Given the description of an element on the screen output the (x, y) to click on. 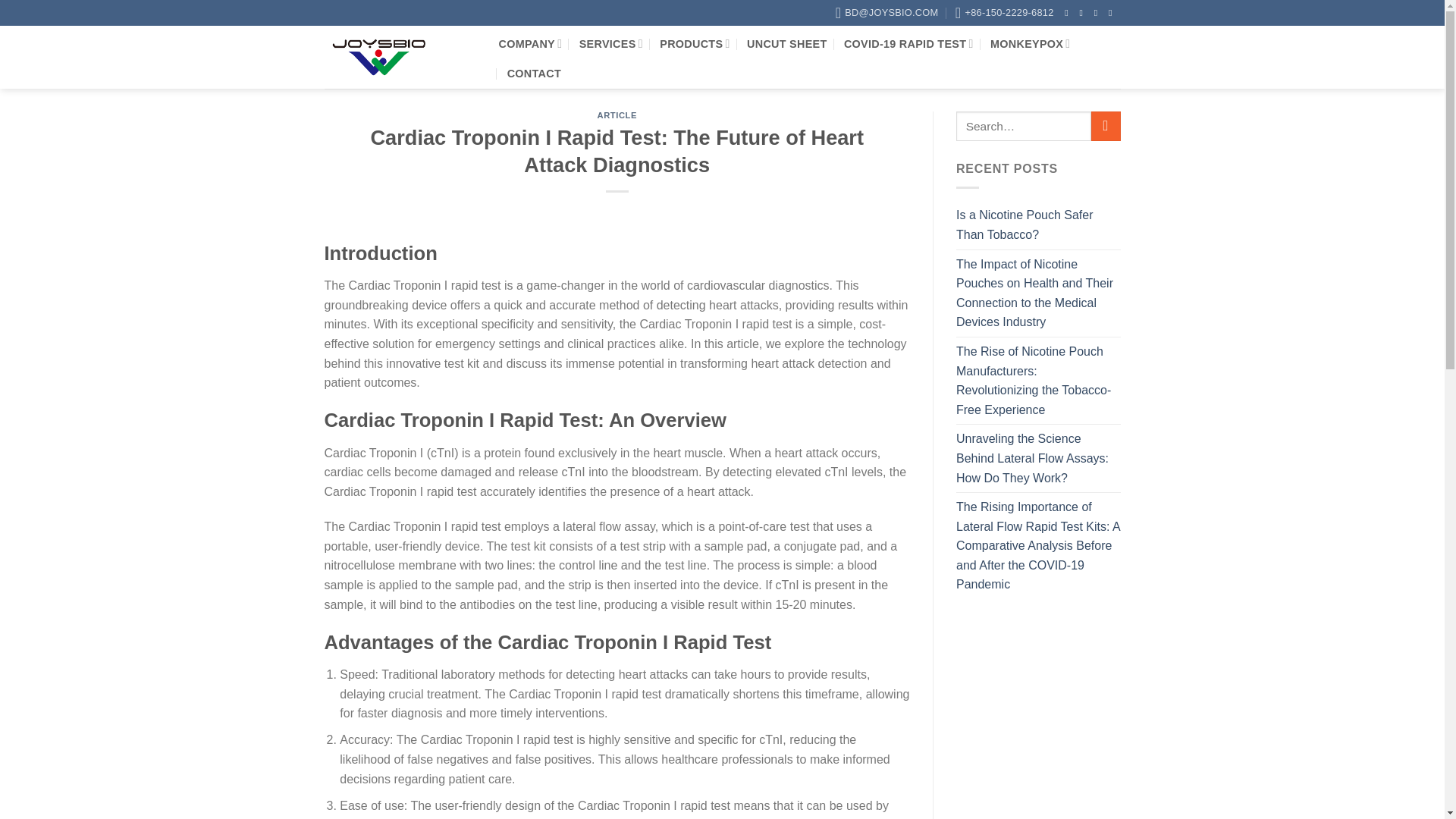
JOYSBIO Biotechnology (400, 56)
COMPANY (530, 43)
SERVICES (611, 43)
CONTACT (533, 73)
MONKEYPOX (1030, 43)
UNCUT SHEET (786, 43)
ARTICLE (616, 114)
COVID-19 RAPID TEST (909, 43)
PRODUCTS (694, 43)
